Given the description of an element on the screen output the (x, y) to click on. 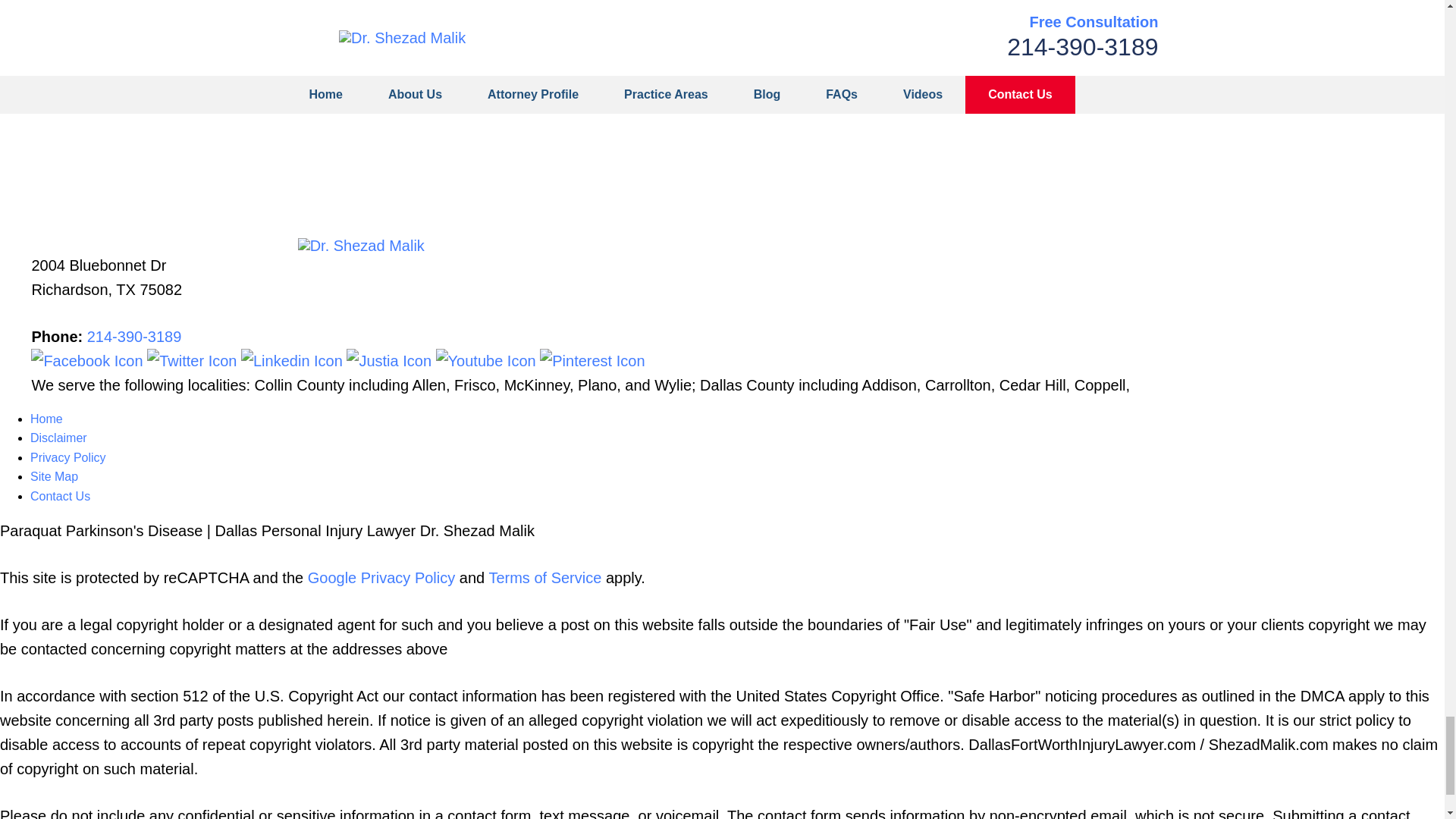
Justia (390, 360)
Pinterest (592, 360)
Youtube (487, 360)
Linkedin (293, 360)
Facebook (88, 360)
Twitter (194, 360)
